Given the description of an element on the screen output the (x, y) to click on. 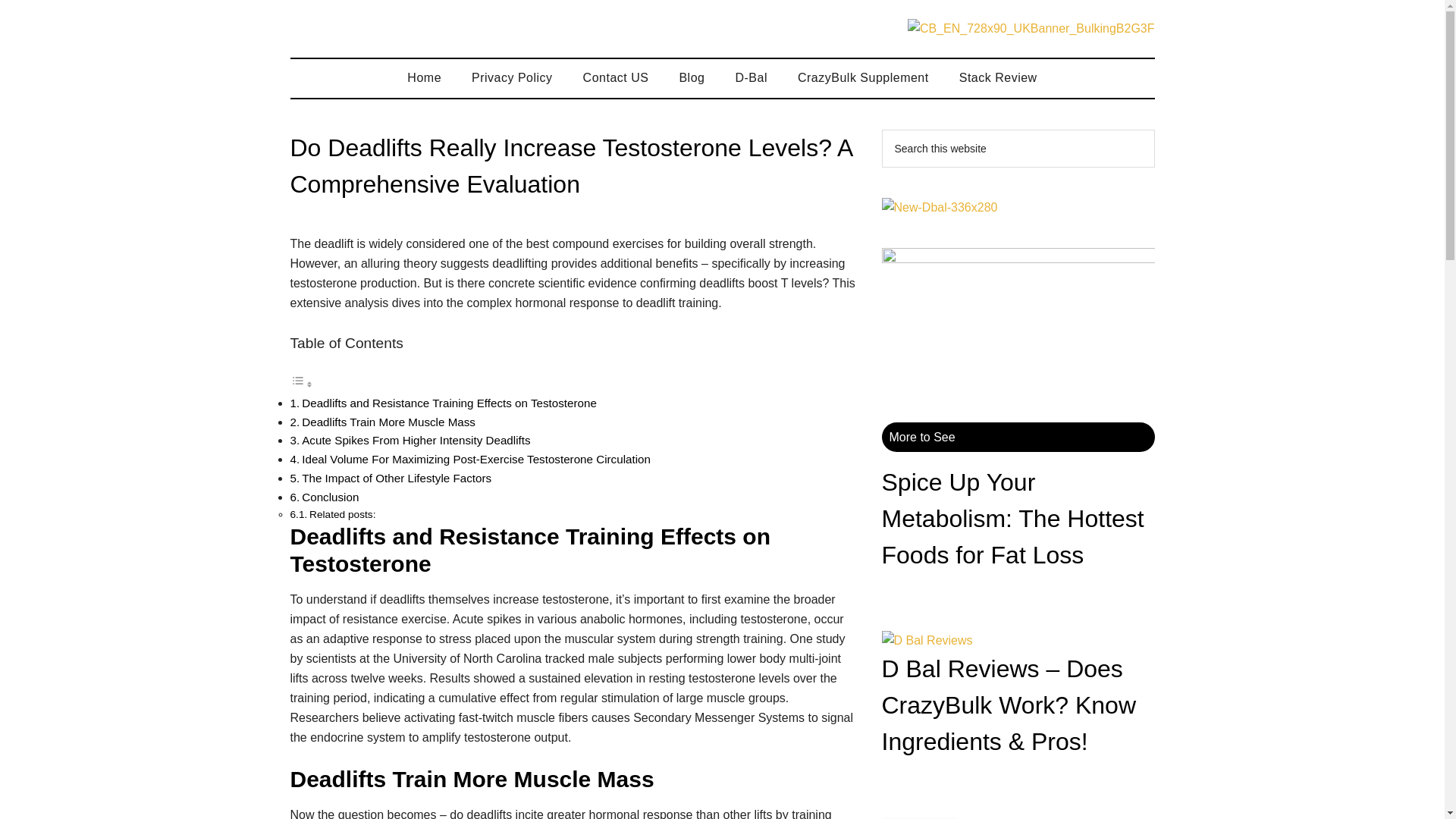
Stack Review (997, 77)
Deadlifts Train More Muscle Mass (388, 421)
Deadlifts Train More Muscle Mass (388, 421)
Related posts: (341, 514)
Related posts: (341, 514)
D-Bal (751, 77)
Deadlifts and Resistance Training Effects on Testosterone  (450, 402)
